Given the description of an element on the screen output the (x, y) to click on. 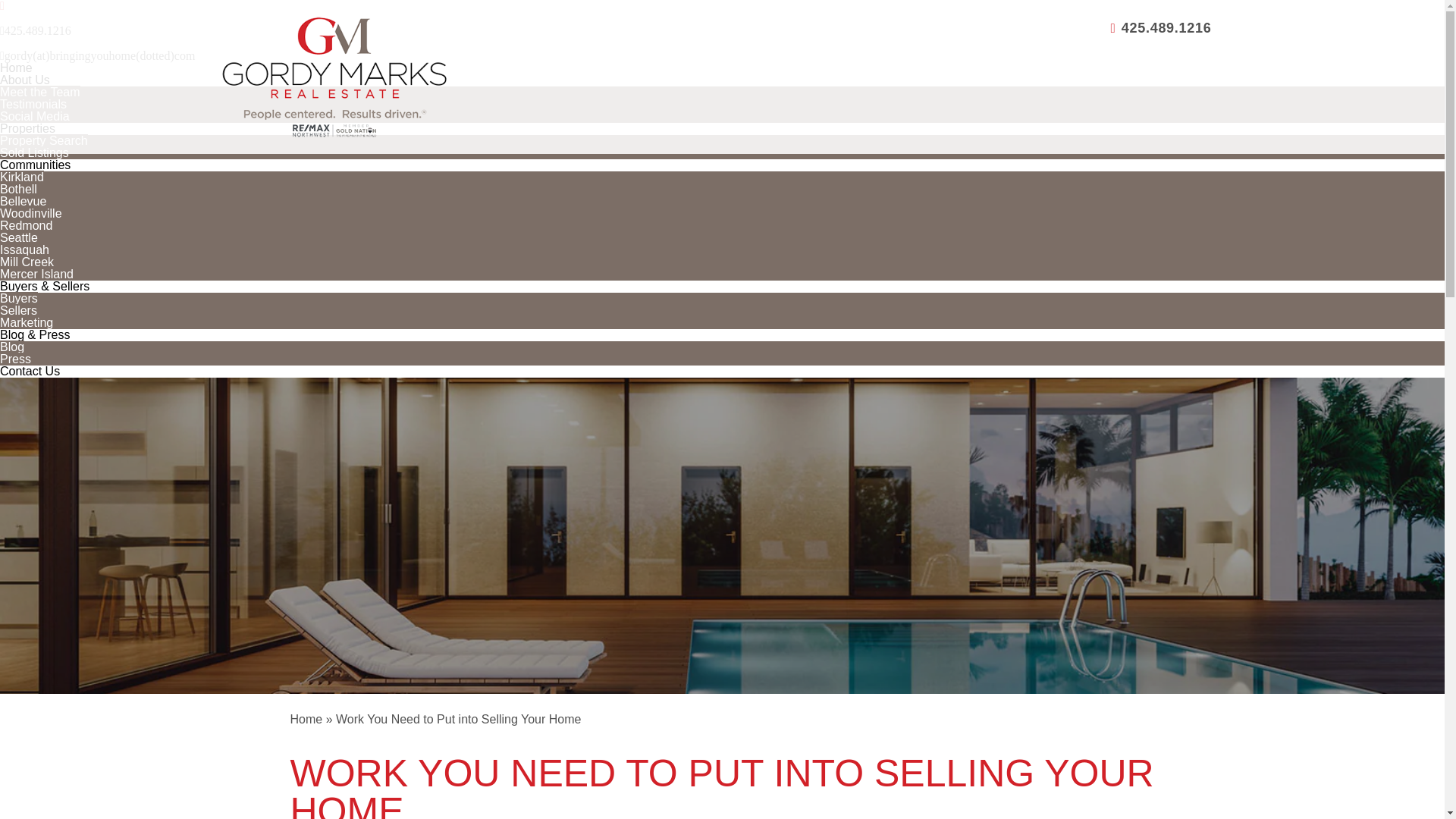
Communities (34, 164)
Blog (12, 346)
About Us (24, 79)
Testimonials (33, 103)
Seattle (18, 237)
Contact Us (29, 370)
Bellevue (23, 201)
Redmond (26, 225)
Home (16, 67)
Sold Listings (34, 152)
